Given the description of an element on the screen output the (x, y) to click on. 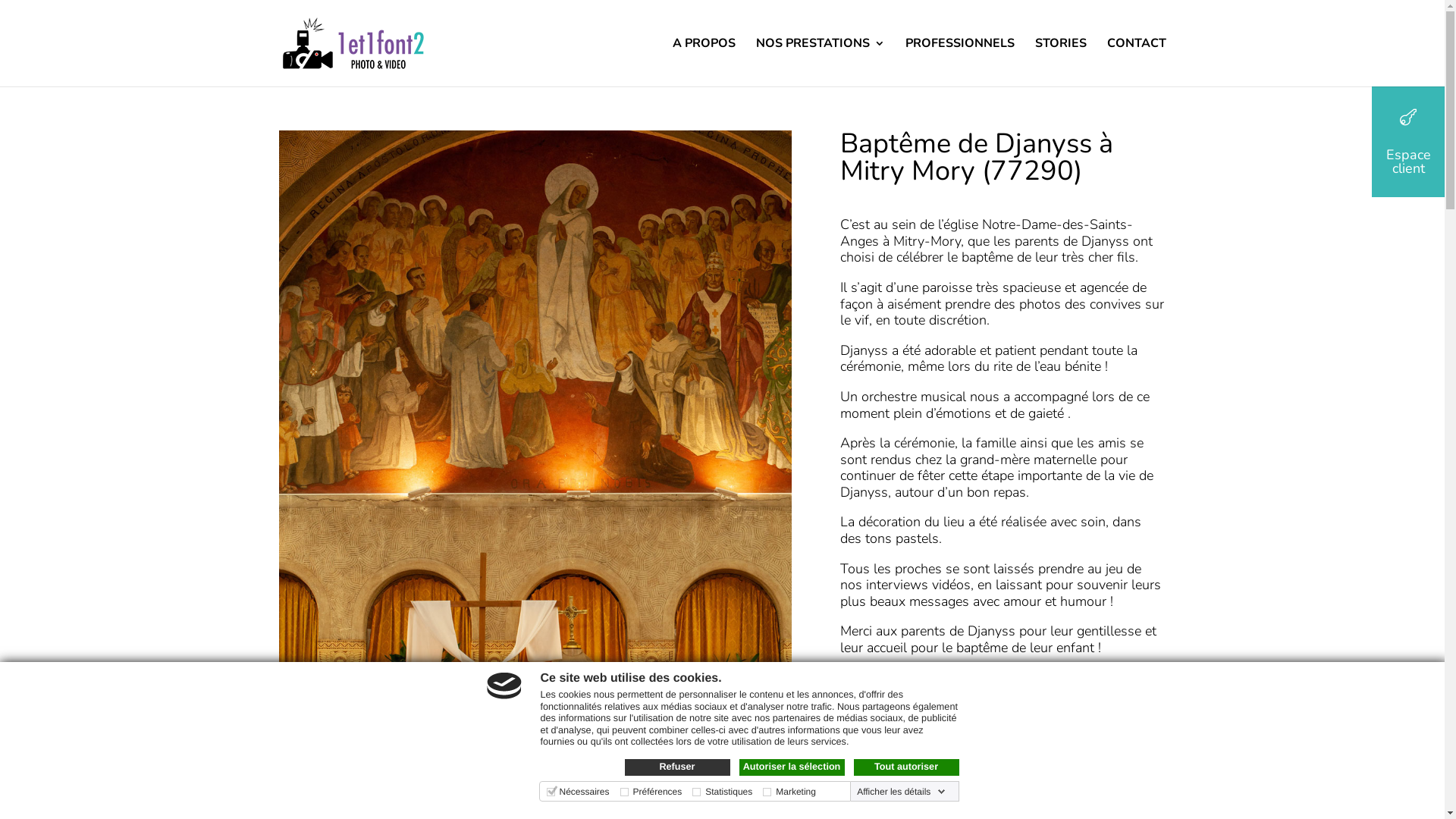
CONTACT Element type: text (1136, 61)
A PROPOS Element type: text (702, 61)
PROFESSIONNELS Element type: text (959, 61)
Tout autoriser Element type: text (906, 767)
NOS PRESTATIONS Element type: text (819, 61)
Refuser Element type: text (677, 767)
STORIES Element type: text (1059, 61)
